Given the description of an element on the screen output the (x, y) to click on. 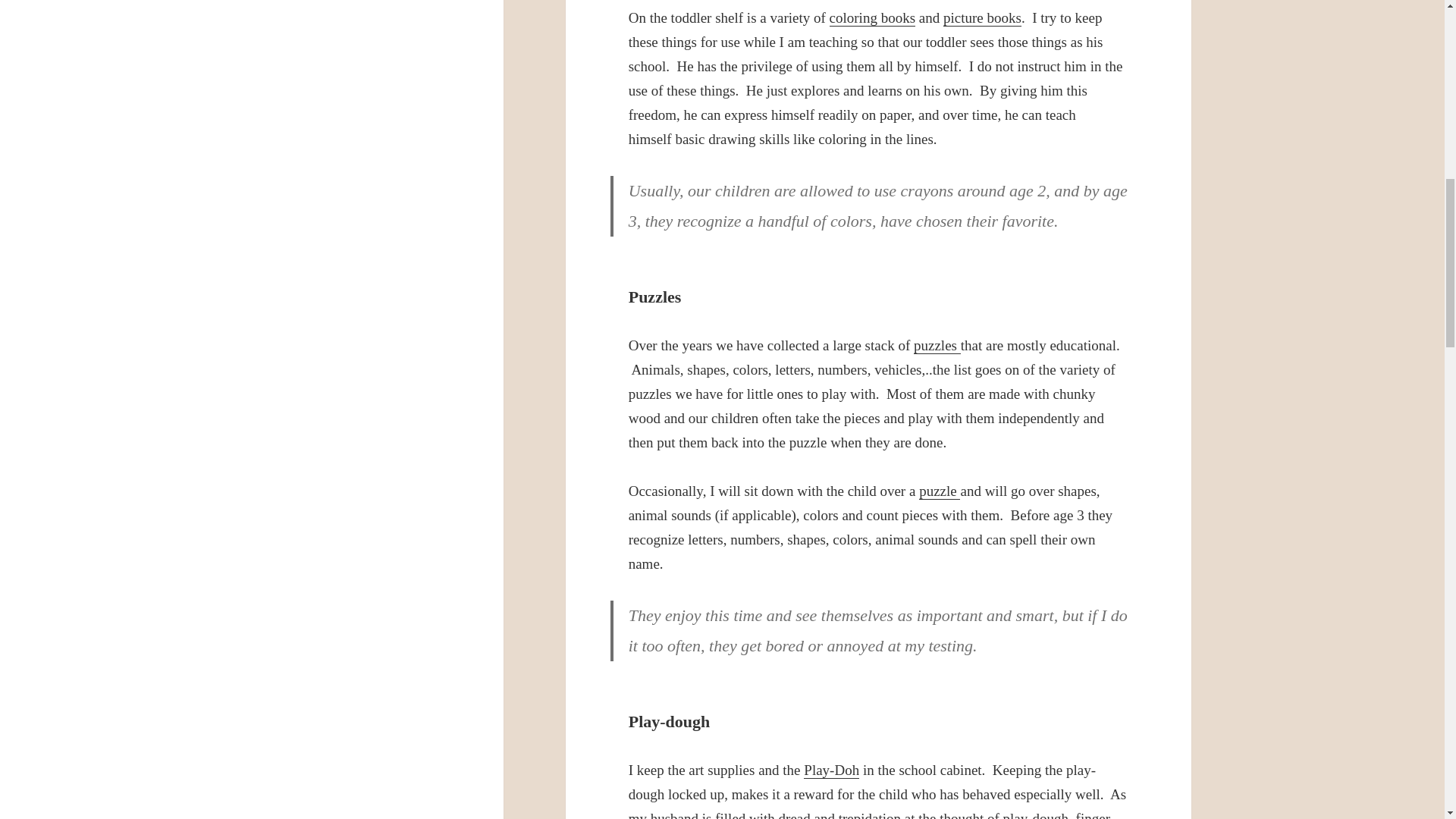
Play-Doh (831, 770)
picture books (982, 17)
puzzles (937, 345)
coloring books (872, 17)
puzzle (938, 491)
Very Hungry Catepillar (982, 17)
Assorted Play Doh (831, 770)
